Given the description of an element on the screen output the (x, y) to click on. 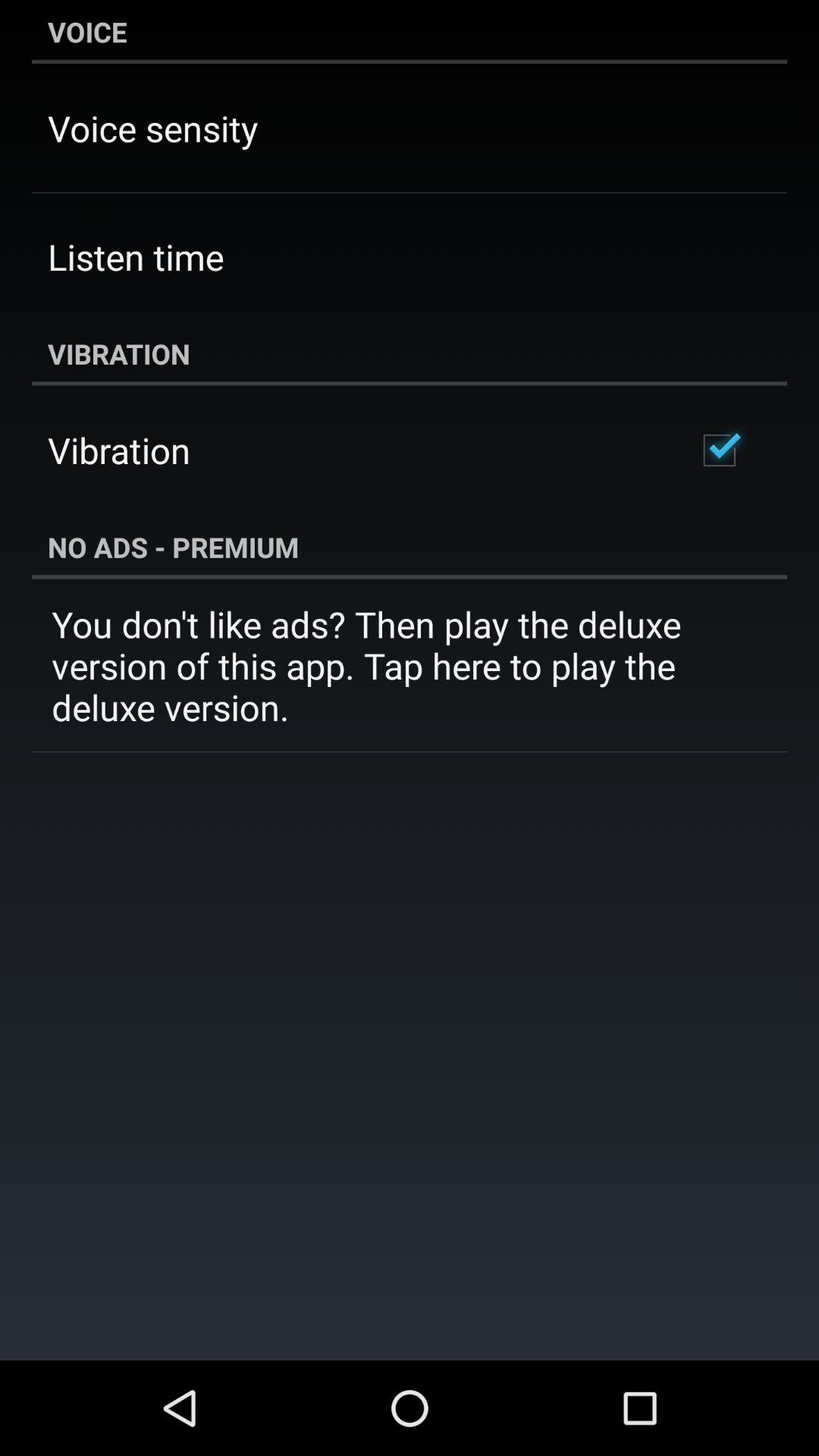
select the item above listen time icon (152, 128)
